Given the description of an element on the screen output the (x, y) to click on. 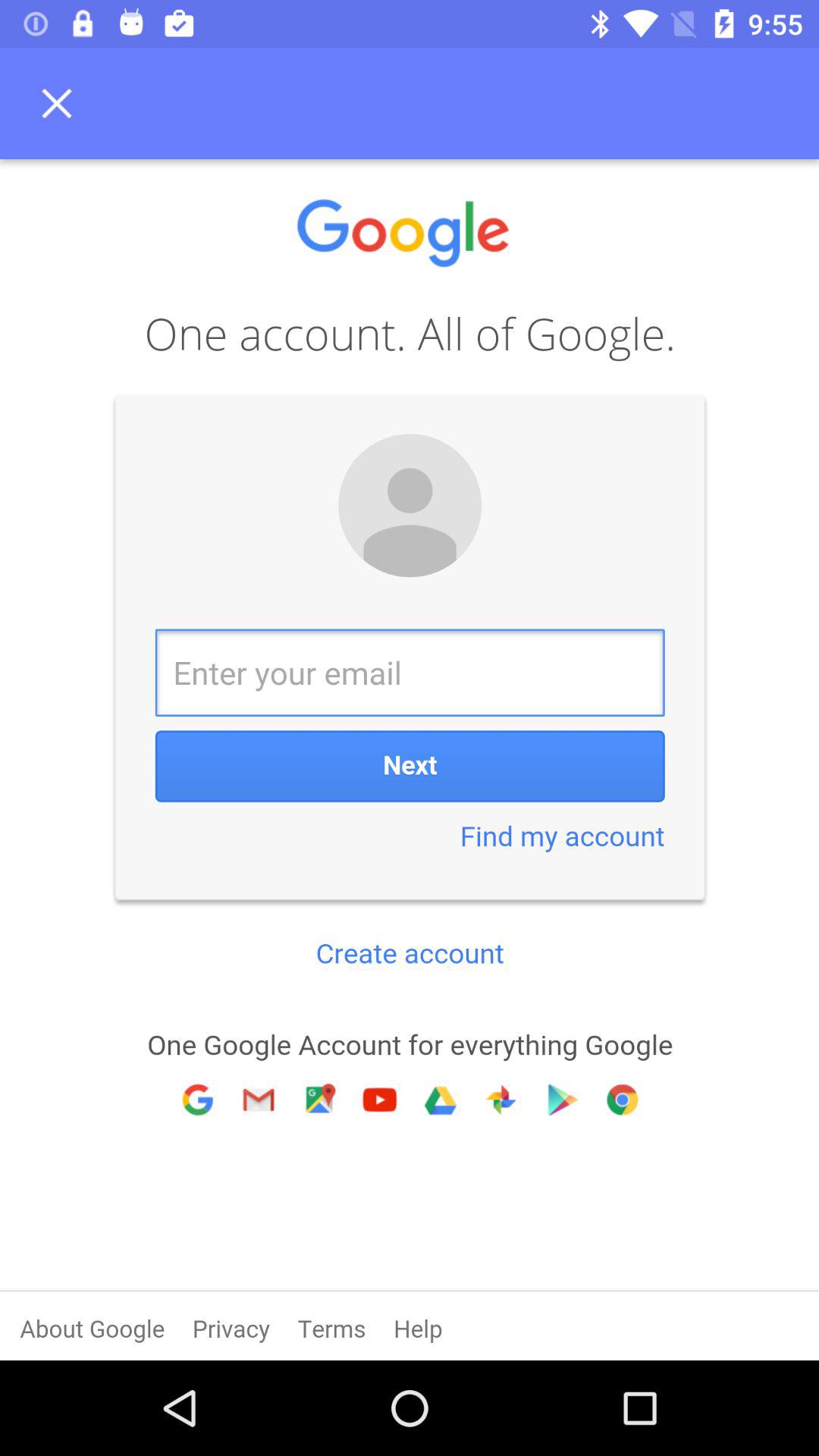
close screen (61, 103)
